Given the description of an element on the screen output the (x, y) to click on. 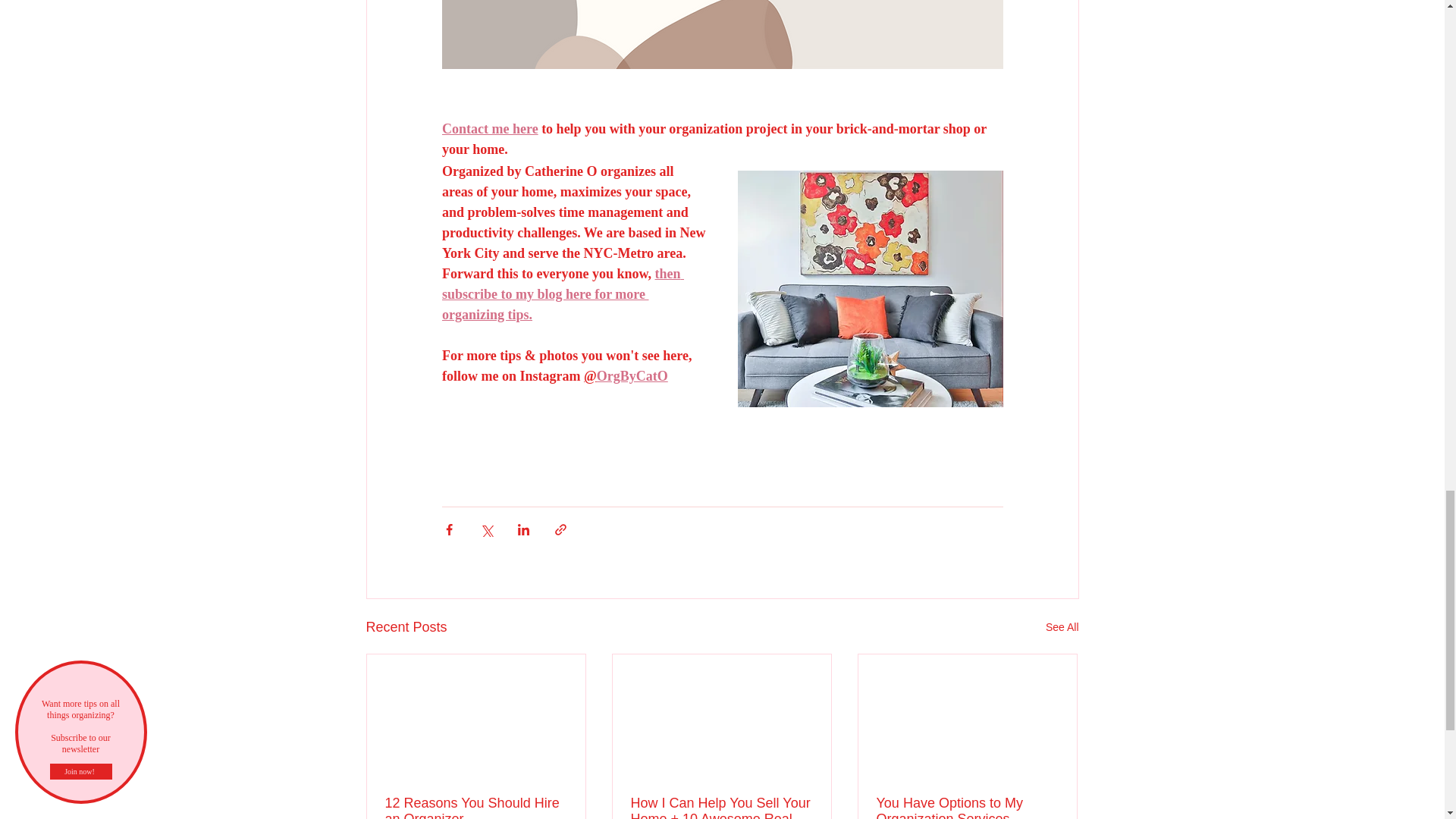
See All (1061, 627)
You Have Options to My Organization Services (967, 807)
12 Reasons You Should Hire an Organizer (476, 807)
Contact me here (489, 128)
then subscribe to my blog here for more organizing tips. (561, 294)
OrgByCatO (630, 376)
